Given the description of an element on the screen output the (x, y) to click on. 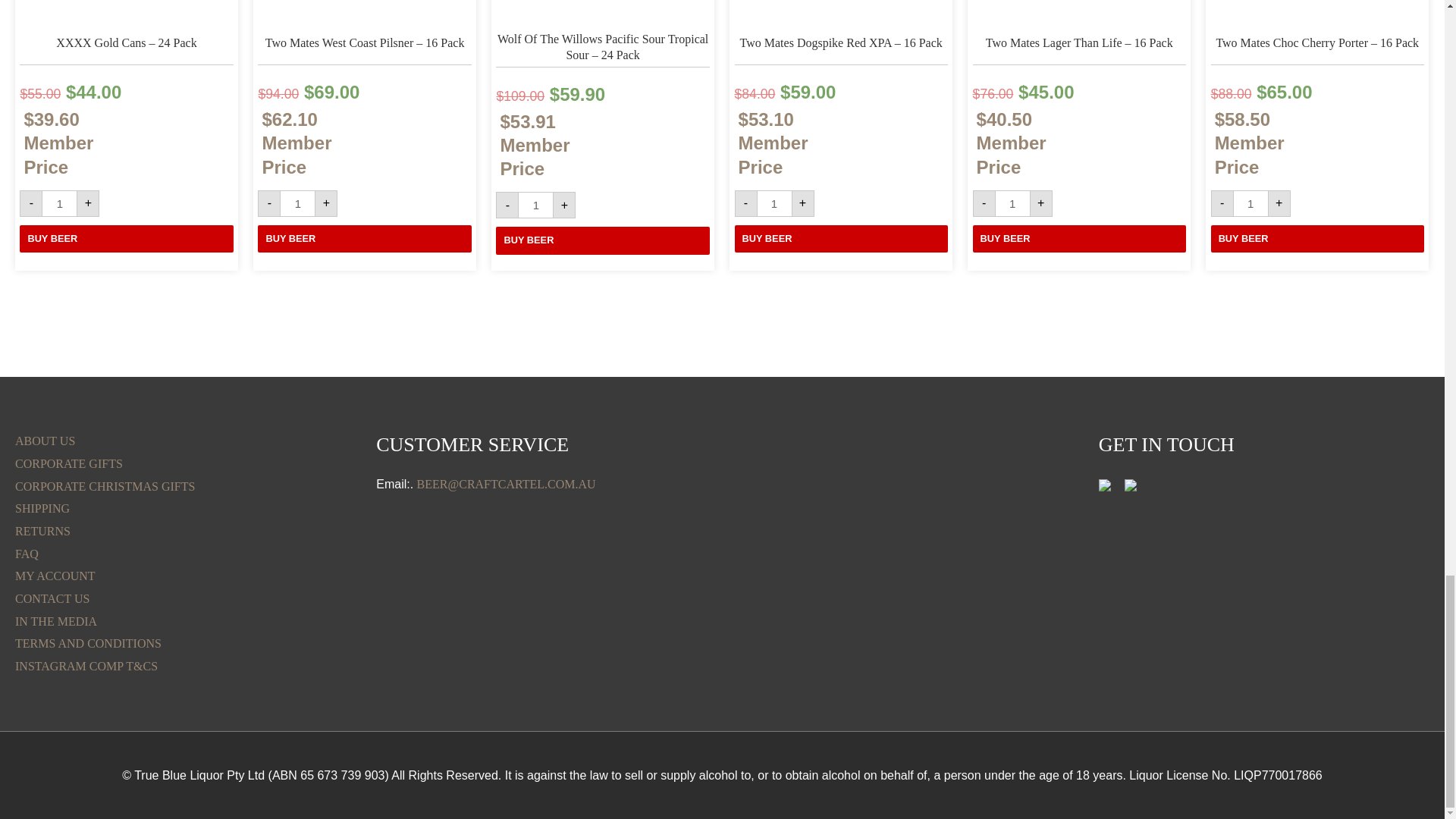
Qty (774, 203)
1 (774, 203)
Qty (297, 203)
Qty (535, 204)
Qty (59, 203)
Qty (1012, 203)
1 (297, 203)
1 (1250, 203)
1 (1012, 203)
Qty (1250, 203)
1 (535, 204)
1 (59, 203)
